Given the description of an element on the screen output the (x, y) to click on. 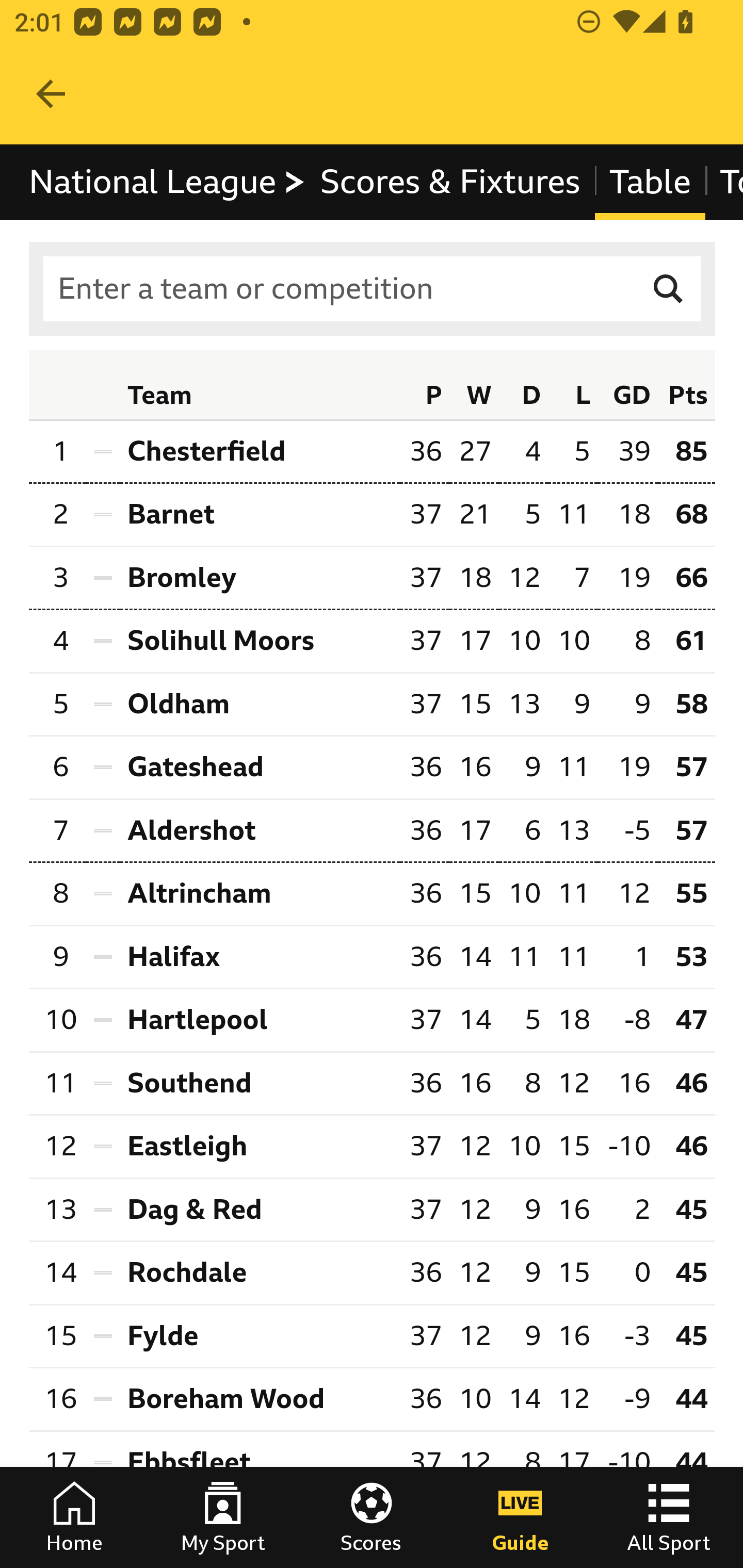
Navigate up (50, 93)
National League  (167, 181)
Scores & Fixtures (449, 181)
Table (649, 181)
Search (669, 289)
Chesterfield (259, 450)
Barnet (259, 514)
Bromley (259, 577)
Solihull Moors (259, 640)
Oldham Oldham Athletic (259, 704)
Gateshead (259, 768)
Aldershot Aldershot Town (259, 830)
Altrincham (259, 894)
Halifax FC Halifax Town (259, 957)
Hartlepool Hartlepool United (259, 1020)
Southend Southend United (259, 1082)
Eastleigh (259, 1145)
Dag & Red Dagenham & Redbridge (259, 1209)
Rochdale (259, 1271)
Fylde AFC Fylde (259, 1335)
Boreham Wood (259, 1399)
Home (74, 1517)
My Sport (222, 1517)
Scores (371, 1517)
All Sport (668, 1517)
